Given the description of an element on the screen output the (x, y) to click on. 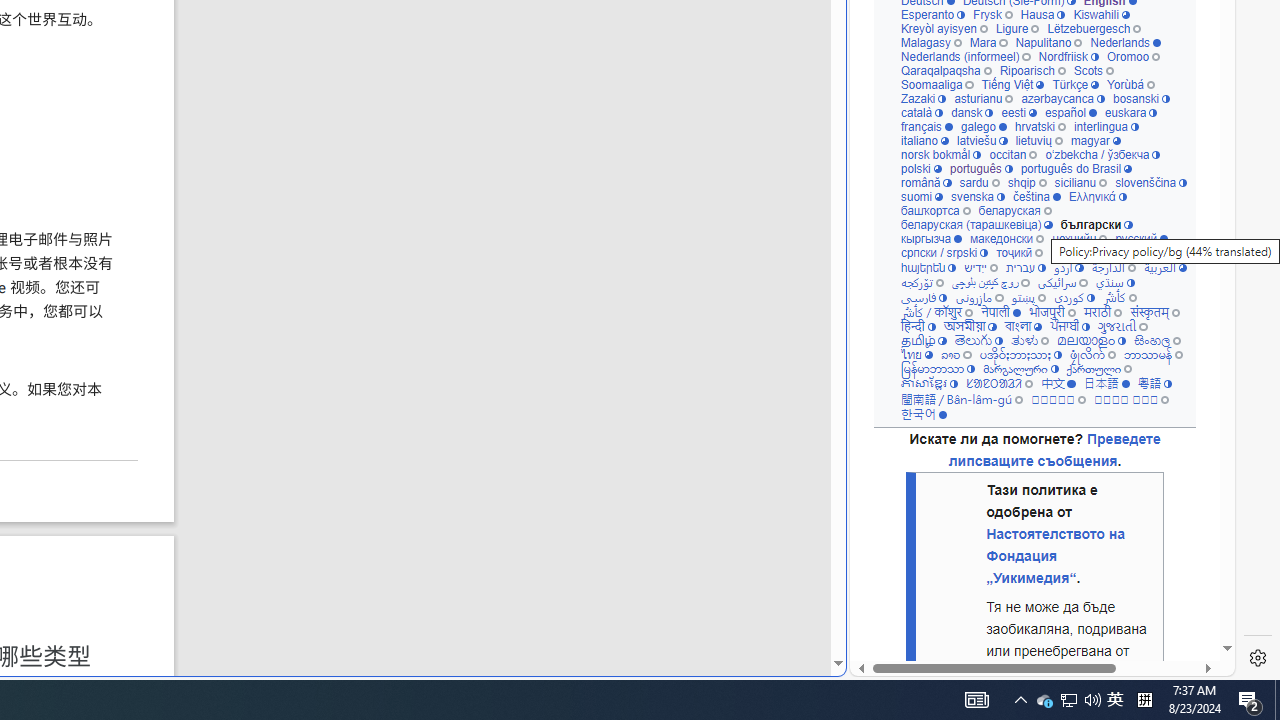
sicilianu (1080, 182)
hrvatski (1040, 125)
Soomaaliga (936, 84)
